Given the description of an element on the screen output the (x, y) to click on. 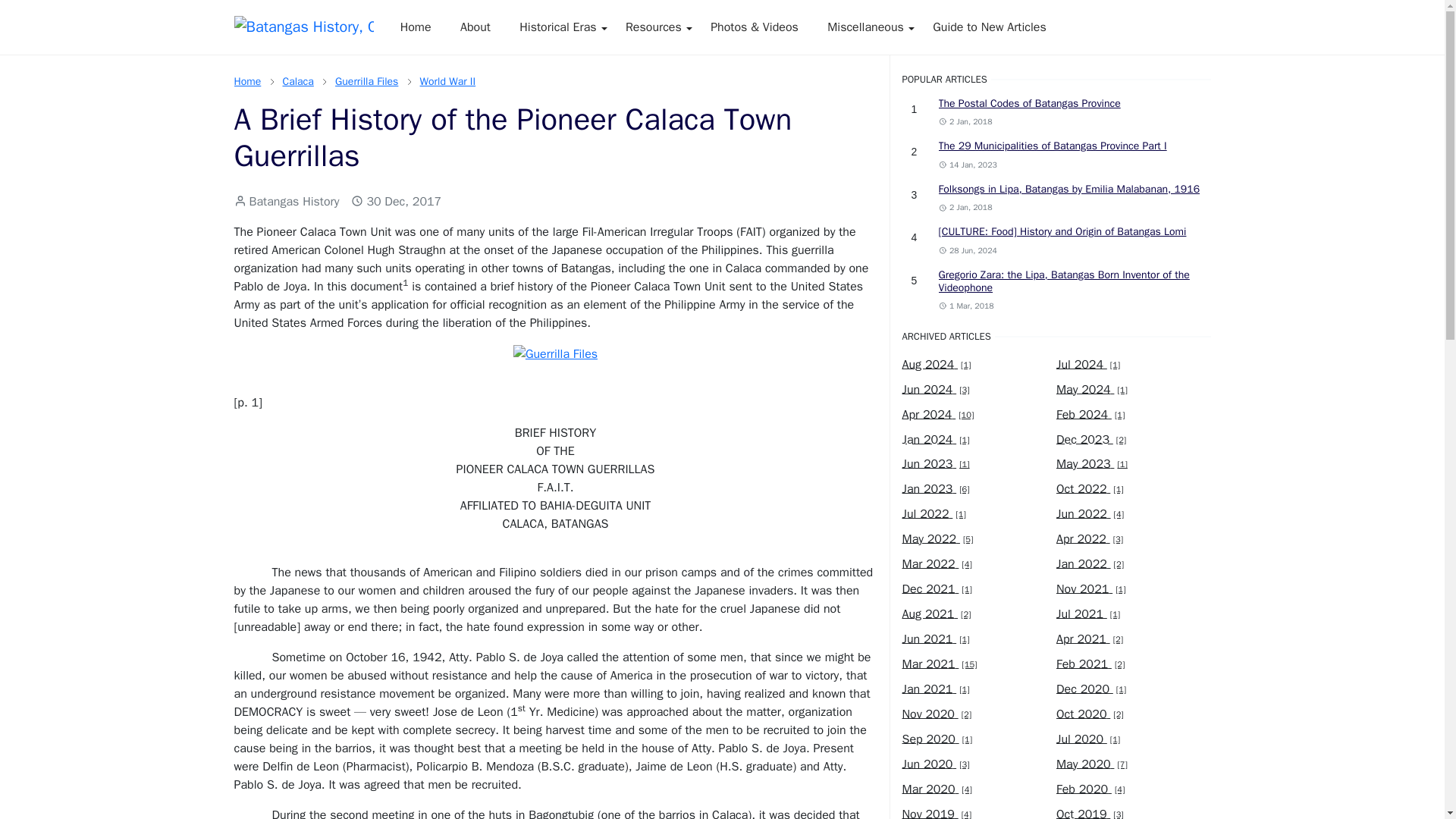
Miscellaneous (865, 27)
Calaca (297, 81)
Calaca (297, 81)
Guerrilla Files (365, 81)
1 (914, 109)
World War II (448, 81)
Guide to New Articles (989, 27)
Guerrilla Files (365, 81)
World War II (448, 81)
Home (415, 27)
